Given the description of an element on the screen output the (x, y) to click on. 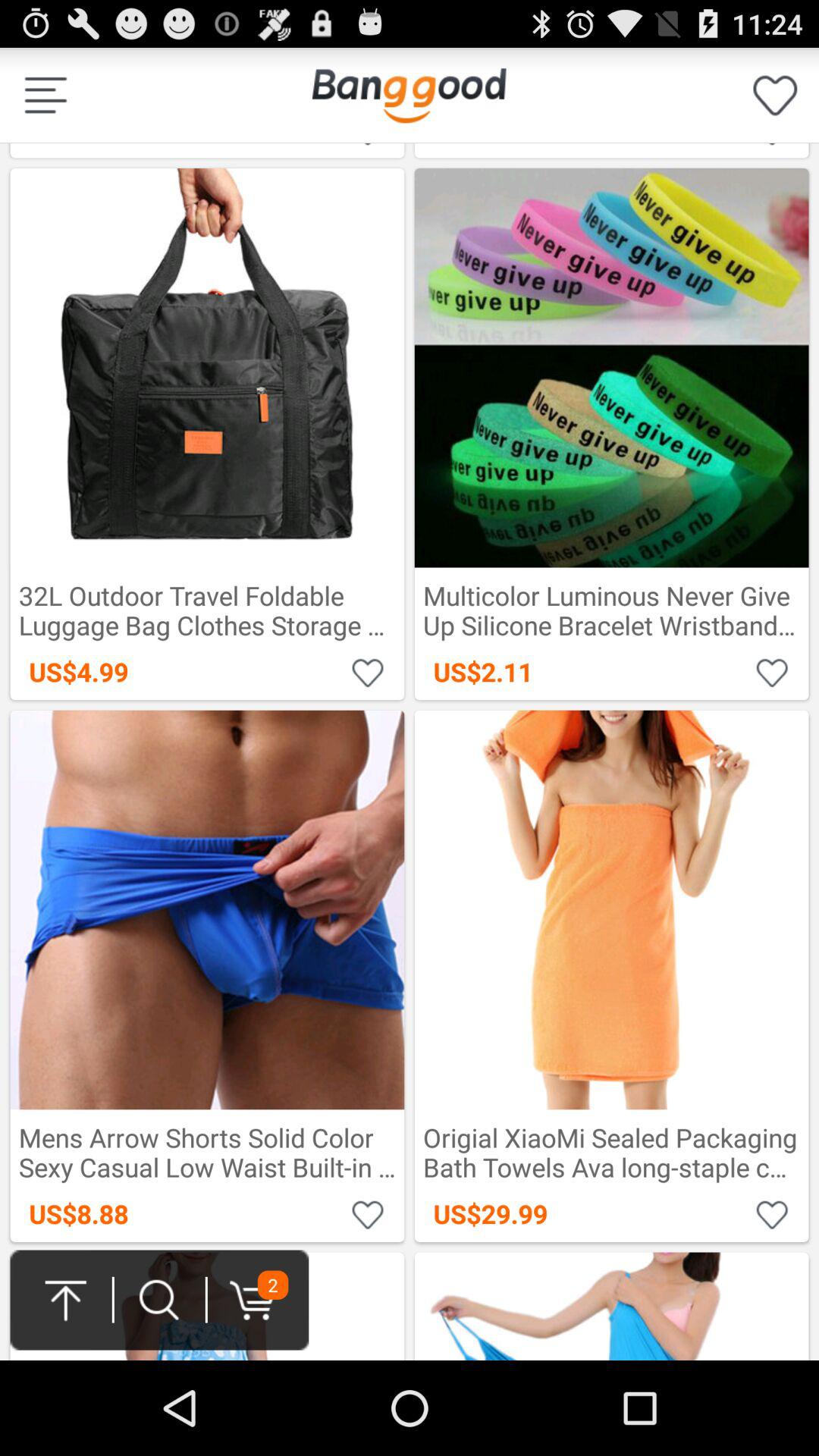
view favorites (775, 95)
